Given the description of an element on the screen output the (x, y) to click on. 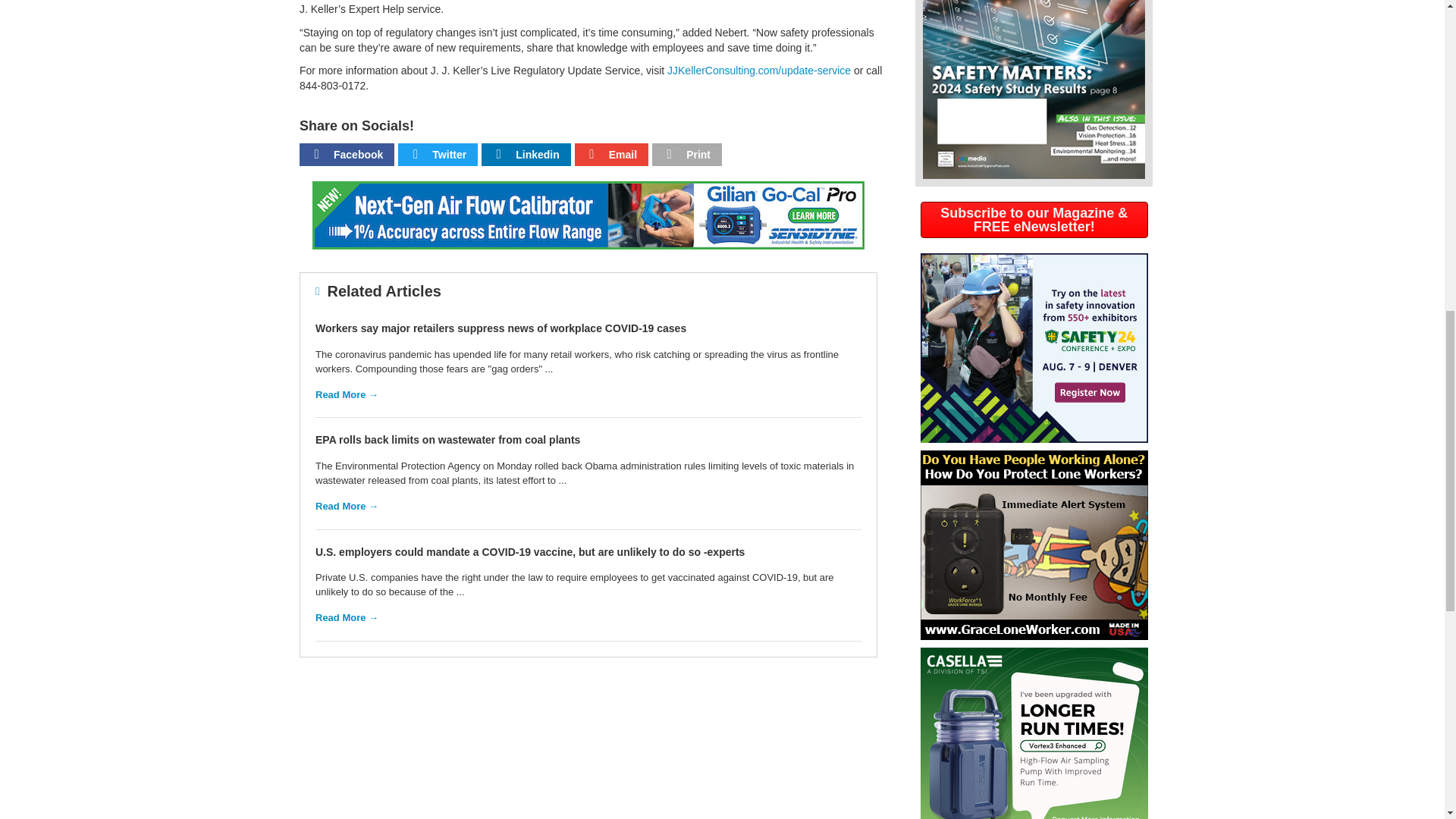
EPA rolls back limits on wastewater from coal plants (447, 439)
